Given the description of an element on the screen output the (x, y) to click on. 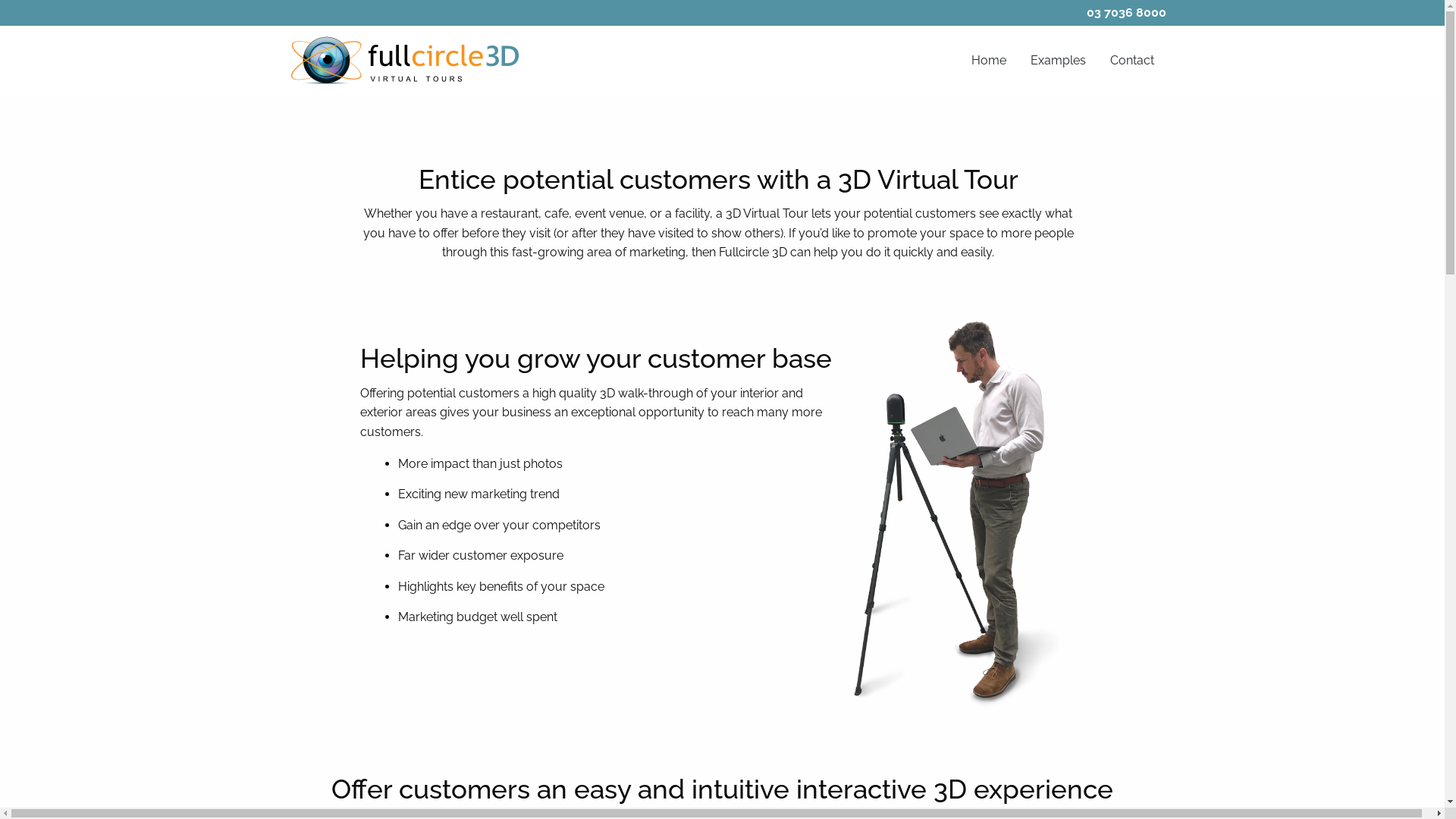
03 7036 8000 Element type: text (1125, 12)
Home Element type: text (987, 60)
Examples Element type: text (1057, 60)
Contact Element type: text (1132, 60)
